Given the description of an element on the screen output the (x, y) to click on. 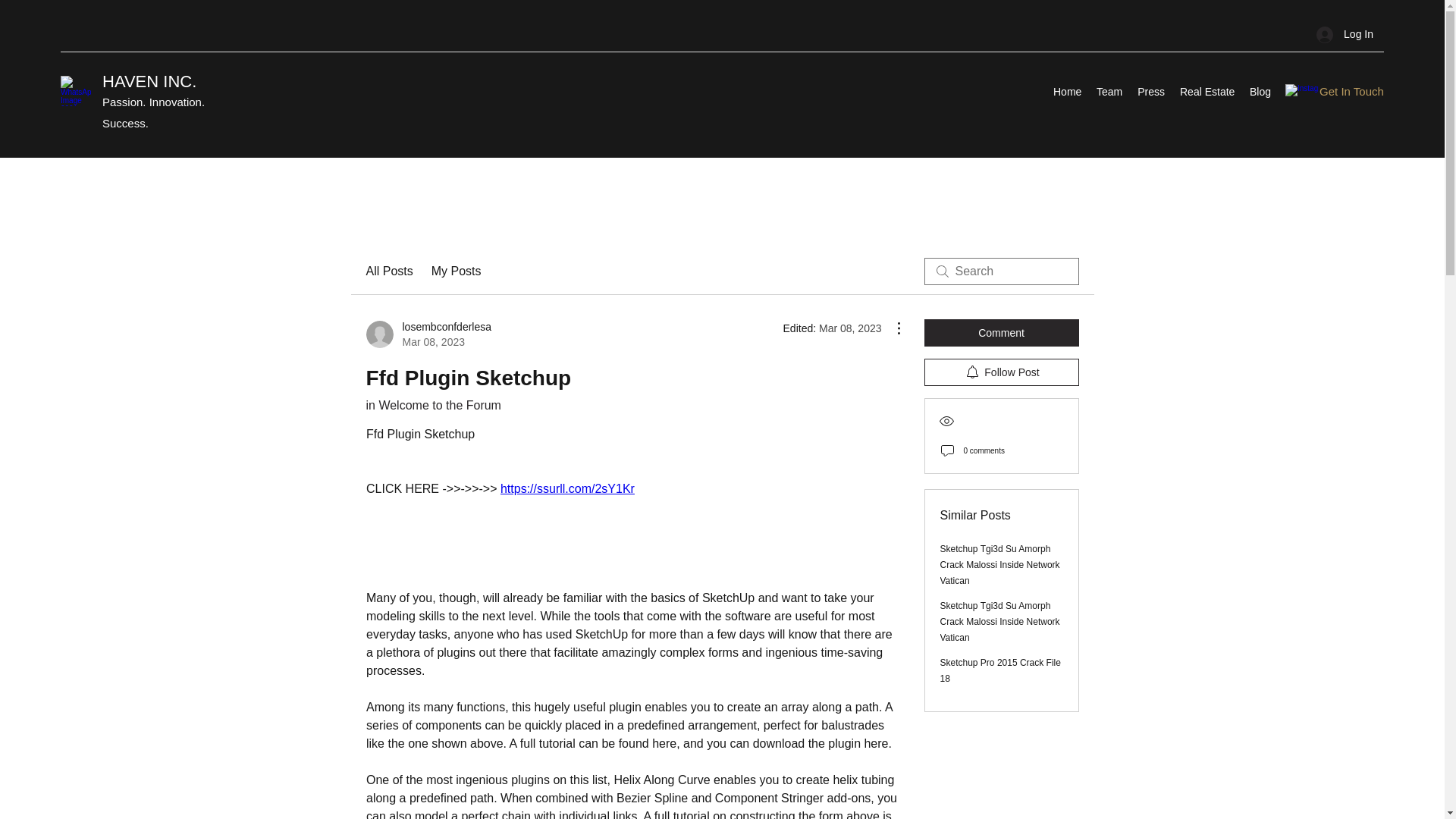
Comment (1000, 332)
Team (1109, 91)
Press (1150, 91)
Get In Touch (1351, 91)
Blog (1259, 91)
Home (1067, 91)
Follow Post (1000, 371)
Log In (1345, 34)
Sketchup Pro 2015 Crack File 18 (428, 334)
HAVEN INC. (1000, 670)
in Welcome to the Forum (148, 81)
My Posts (432, 404)
